Given the description of an element on the screen output the (x, y) to click on. 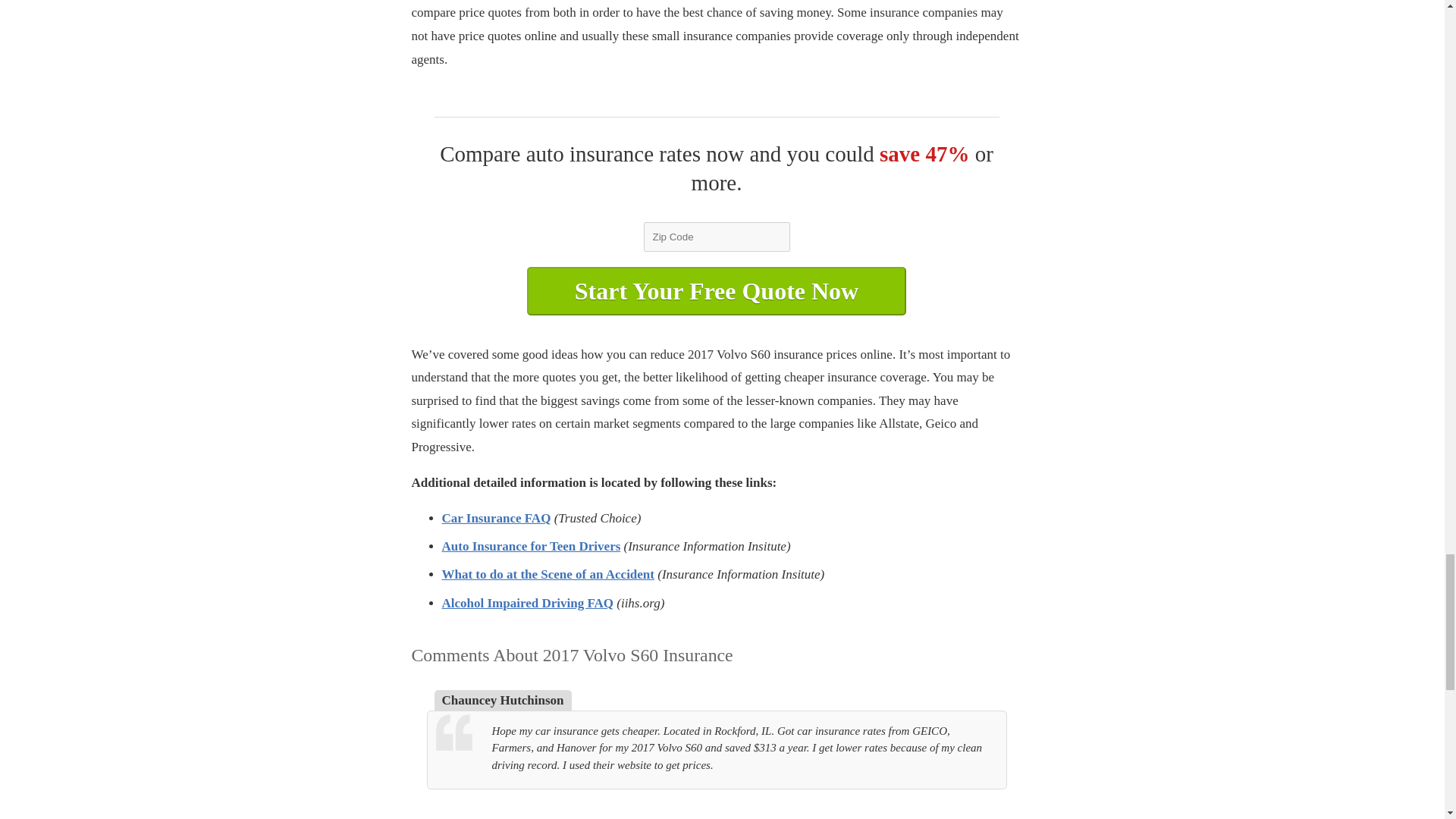
Zip Code must be filled out! (716, 235)
What to do at the Scene of an Accident (547, 574)
Start Your Free Quote Now (716, 290)
Alcohol Impaired Driving FAQ (526, 603)
Tap to get your quotes! (716, 290)
Car Insurance FAQ (495, 518)
Auto Insurance for Teen Drivers (530, 545)
